Given the description of an element on the screen output the (x, y) to click on. 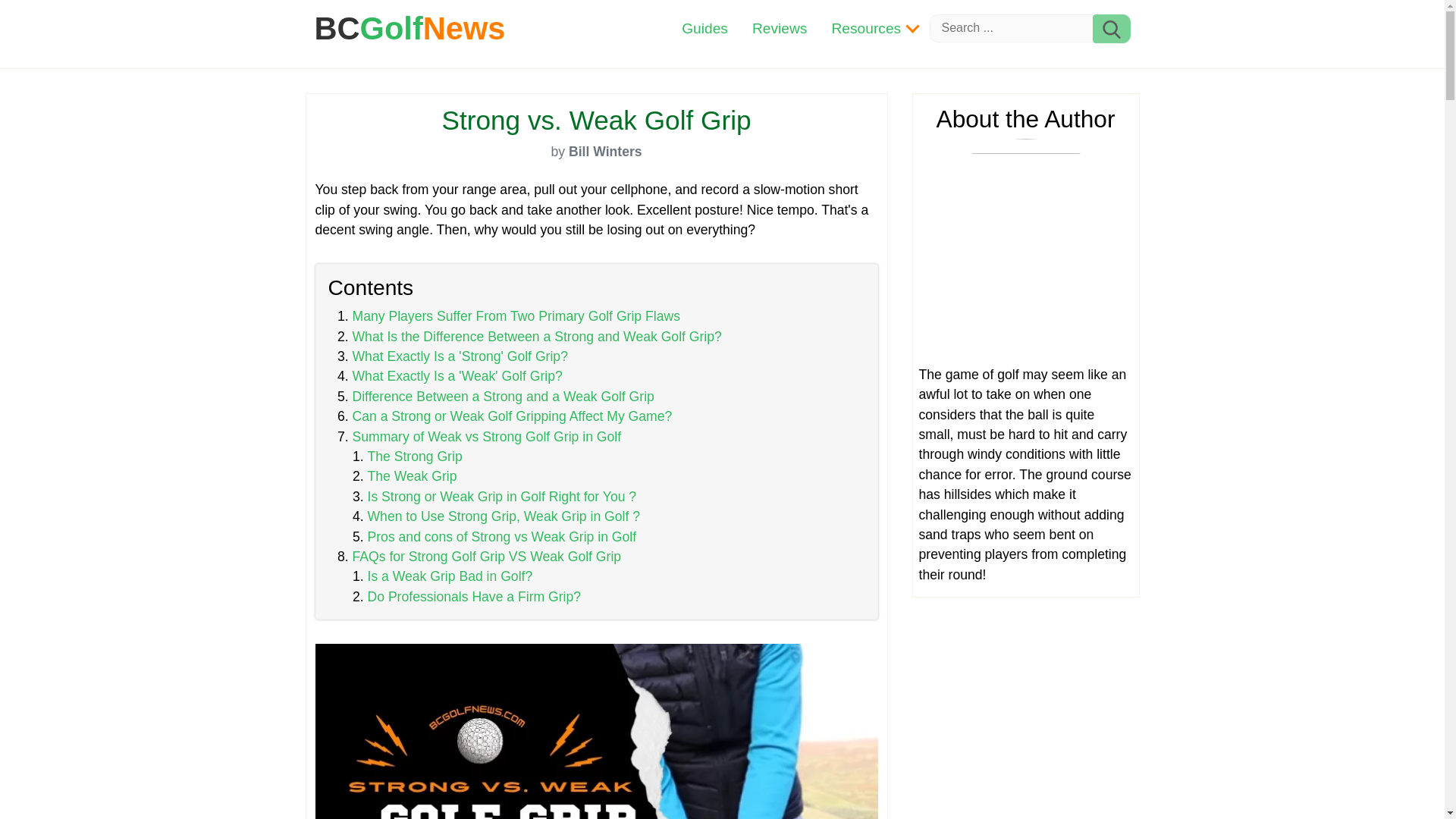
The Weak Grip (411, 476)
What Exactly Is a 'Strong' Golf Grip? (459, 355)
Is Strong or Weak Grip in Golf Right for You ? (501, 496)
Reviews (779, 28)
Many Players Suffer From Two Primary Golf Grip Flaws (515, 315)
What Is the Difference Between a Strong and Weak Golf Grip? (536, 336)
Summary of Weak vs Strong Golf Grip in Golf (486, 436)
Pros and cons of Strong vs Weak Grip in Golf (501, 536)
BCGolfNews (409, 28)
When to Use Strong Grip, Weak Grip in Golf ? (503, 516)
Guides (704, 28)
What Exactly Is a 'Weak' Golf Grip? (457, 376)
Difference Between a Strong and a Weak Golf Grip (502, 396)
Can a Strong or Weak Golf Gripping Affect My Game? (511, 416)
The Strong Grip (413, 456)
